Given the description of an element on the screen output the (x, y) to click on. 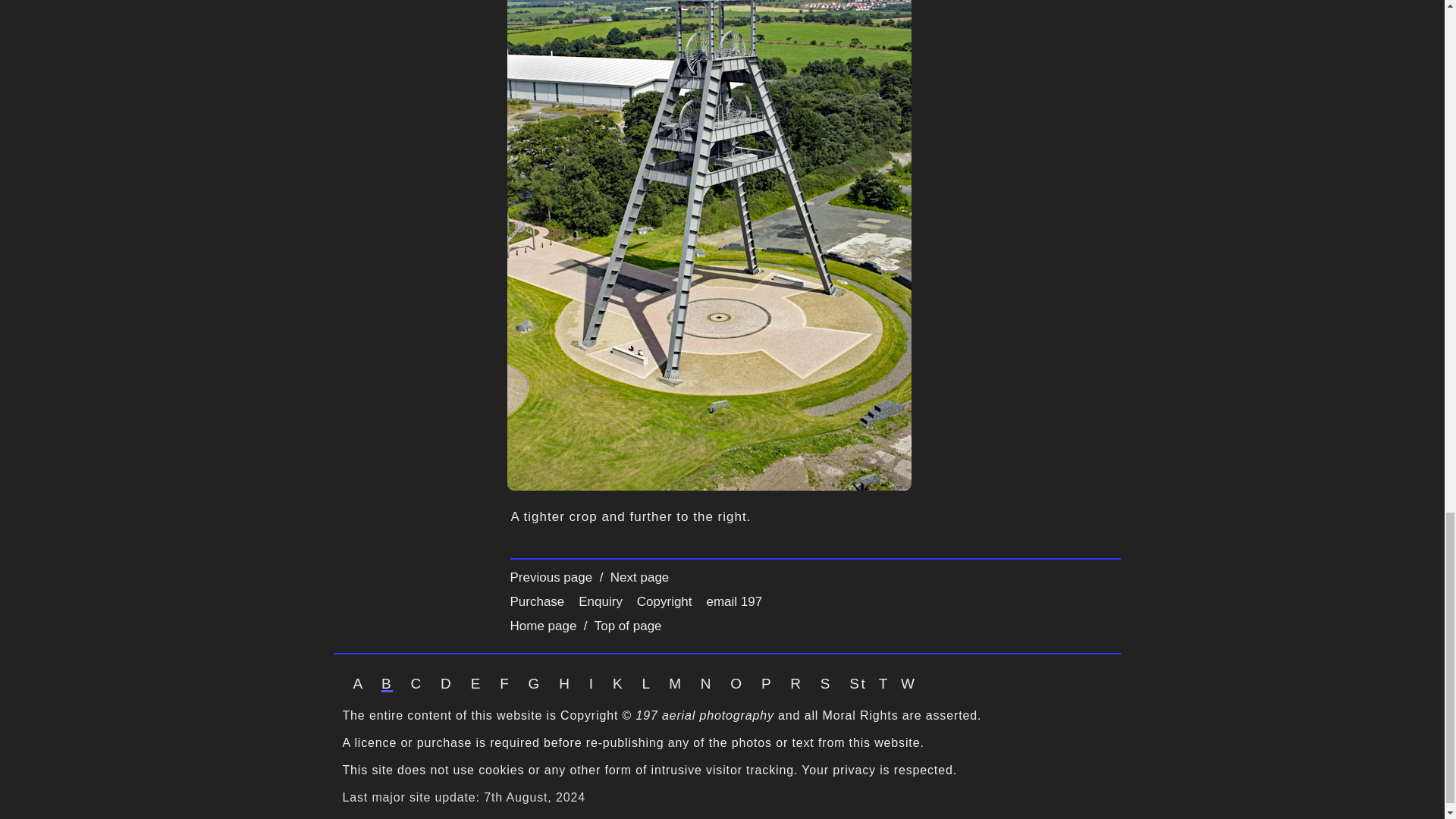
Top of page (626, 626)
Purchase (536, 601)
Enquiry (600, 601)
Previous page (552, 577)
Copyright (665, 601)
Home page (544, 626)
email 197 (733, 601)
Next page (637, 577)
